Given the description of an element on the screen output the (x, y) to click on. 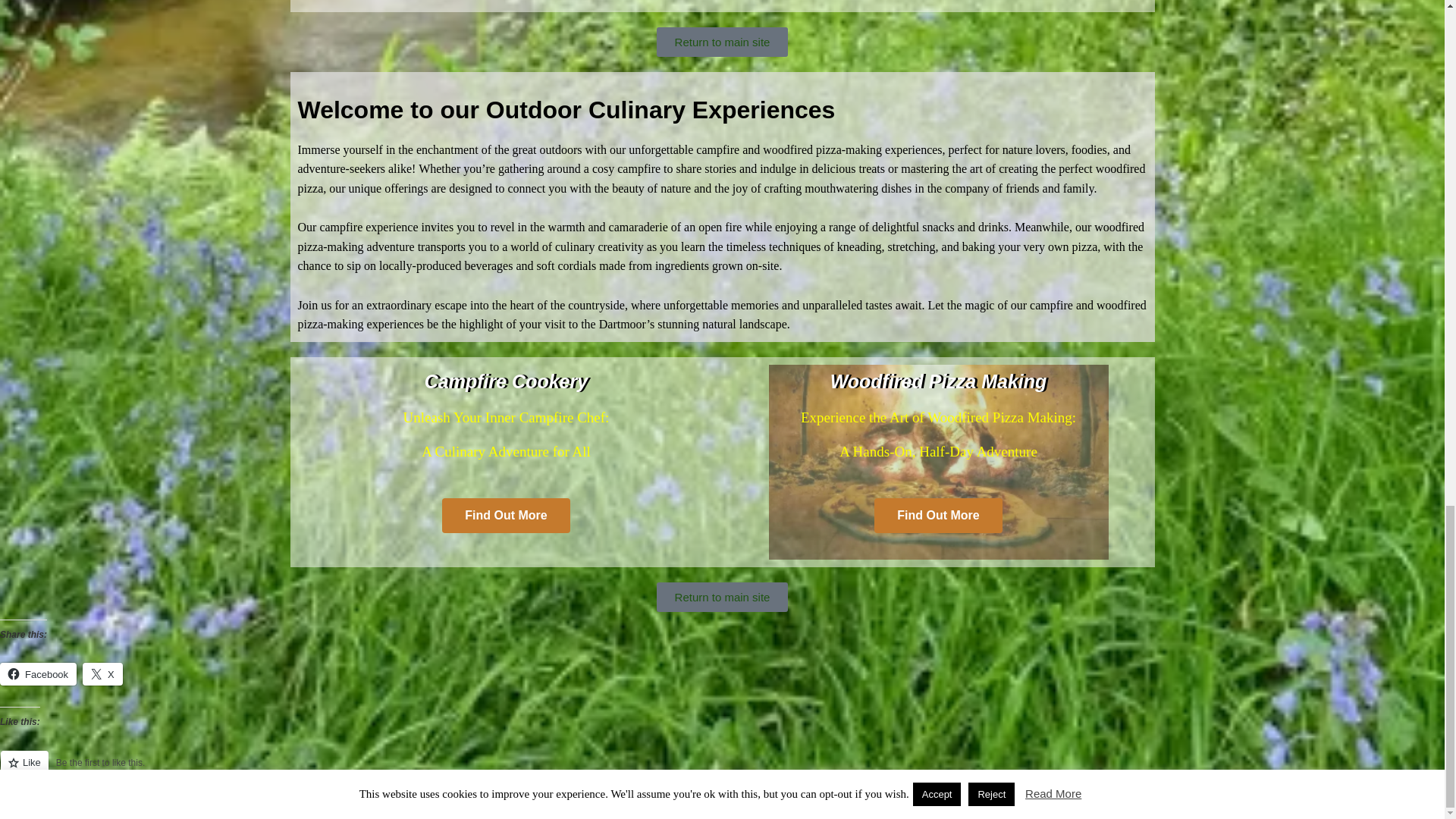
Return to main site (722, 595)
X (102, 673)
Find Out More (938, 515)
Find Out More (505, 515)
Facebook (38, 673)
Return to main site (722, 41)
